Given the description of an element on the screen output the (x, y) to click on. 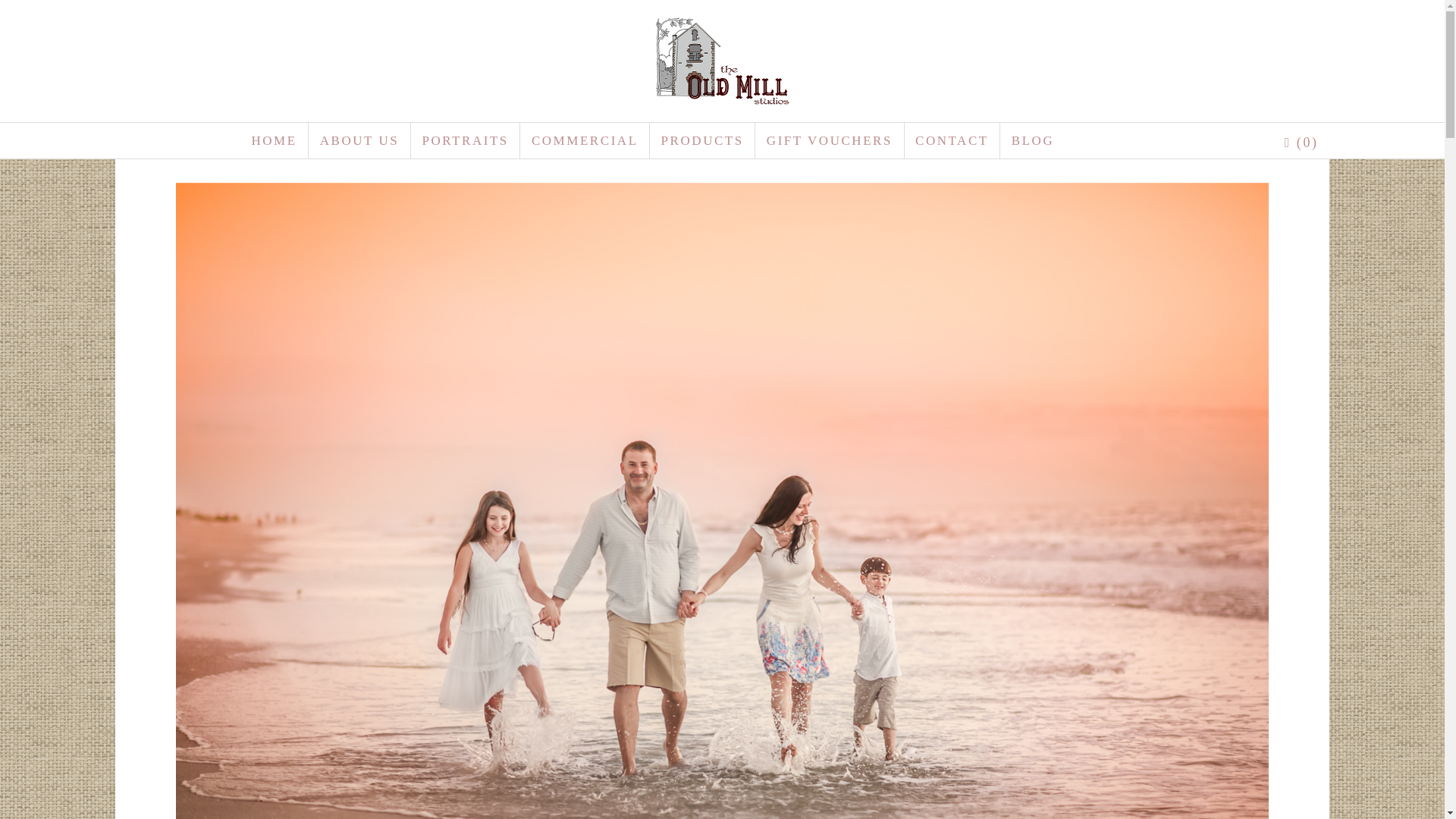
HOME (273, 140)
ABOUT US (359, 140)
COMMERCIAL (585, 140)
PRODUCTS (702, 140)
PORTRAITS (465, 140)
